Given the description of an element on the screen output the (x, y) to click on. 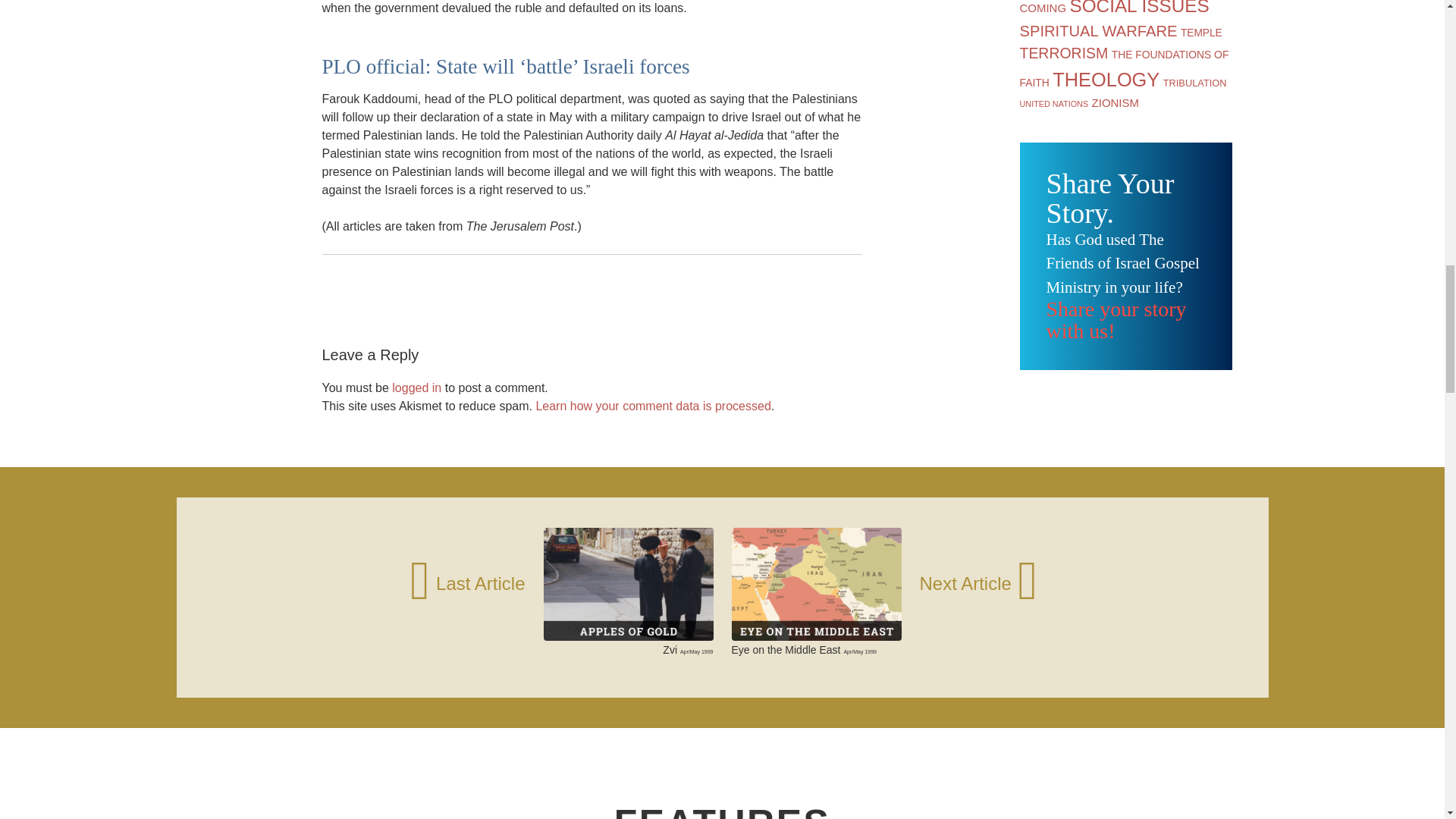
logged in (416, 387)
Learn how your comment data is processed (652, 405)
